Given the description of an element on the screen output the (x, y) to click on. 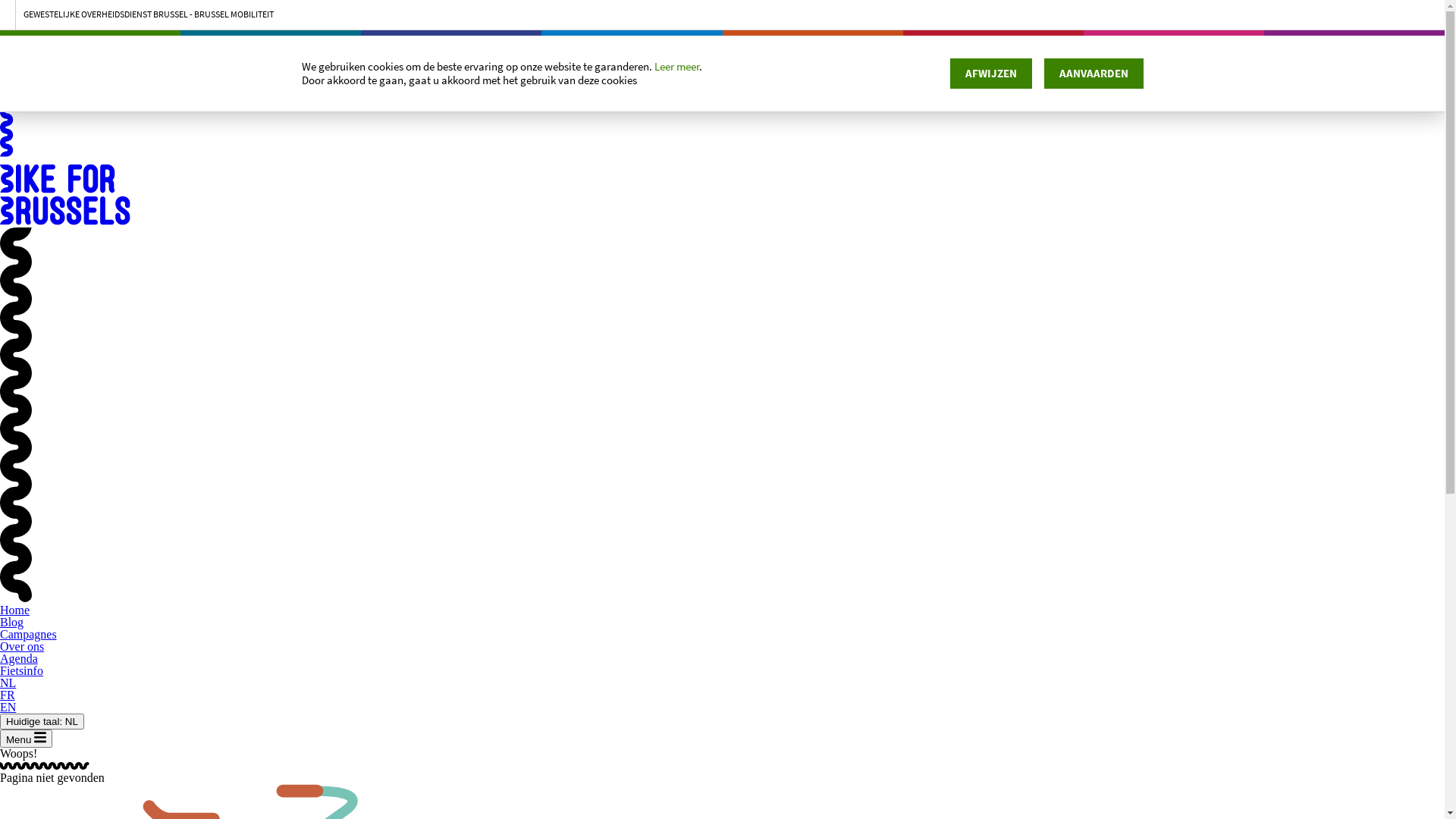
Leer meer Element type: text (675, 67)
FR Element type: text (7, 694)
GEWESTELIJKE OVERHEIDSDIENST BRUSSEL - BRUSSEL MOBILITEIT Element type: text (722, 14)
Menu Element type: text (26, 738)
EN Element type: text (7, 706)
Campagnes Element type: text (28, 633)
Fietsinfo Element type: text (21, 670)
Huidige taal: NL Element type: text (42, 721)
Blog Element type: text (11, 621)
Home Element type: text (14, 609)
NL Element type: text (7, 682)
AANVAARDEN Element type: text (1092, 73)
Over ons Element type: text (21, 646)
AFWIJZEN Element type: text (991, 73)
Agenda Element type: text (18, 658)
